Given the description of an element on the screen output the (x, y) to click on. 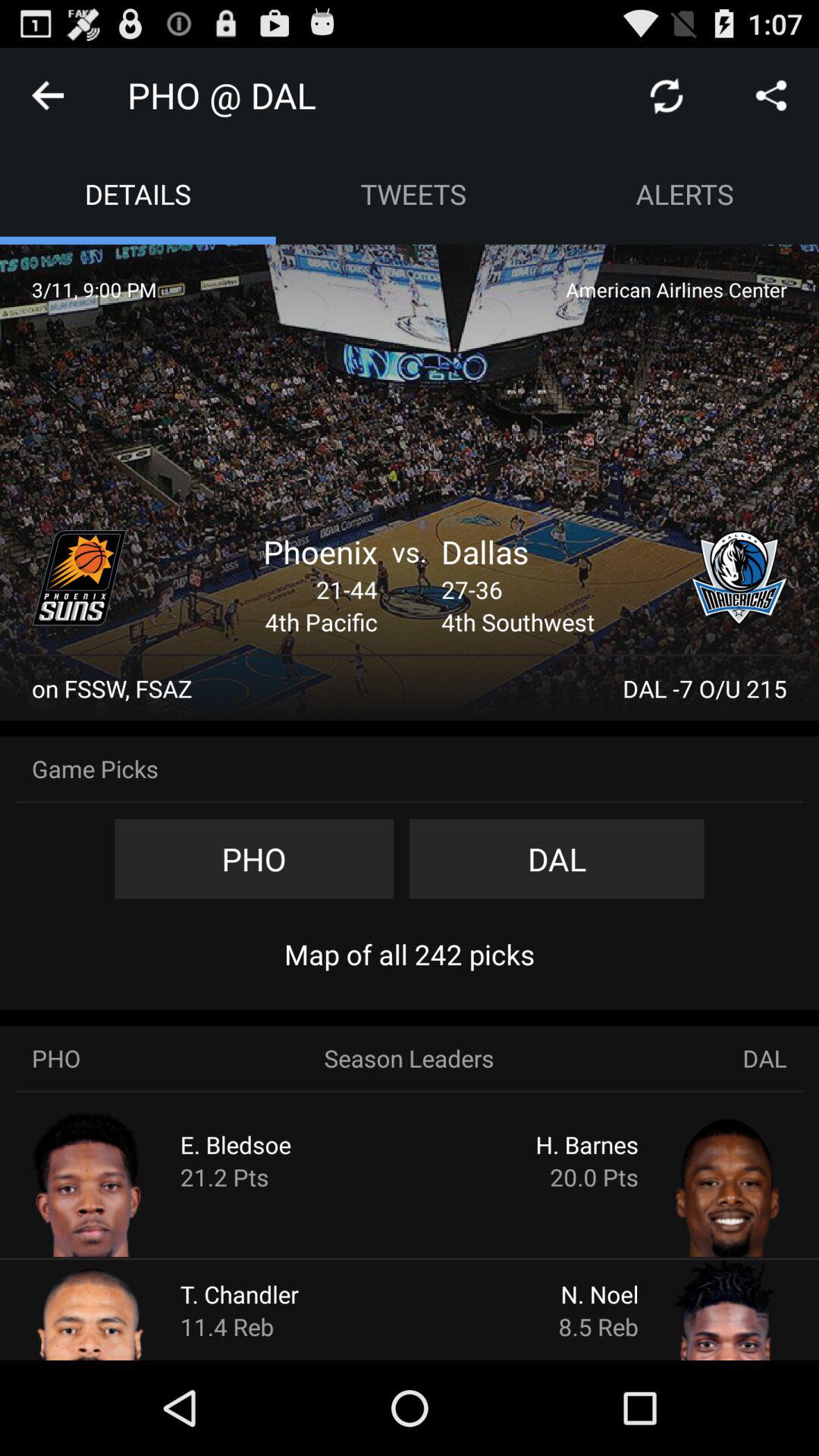
phoenix suns (79, 577)
